Given the description of an element on the screen output the (x, y) to click on. 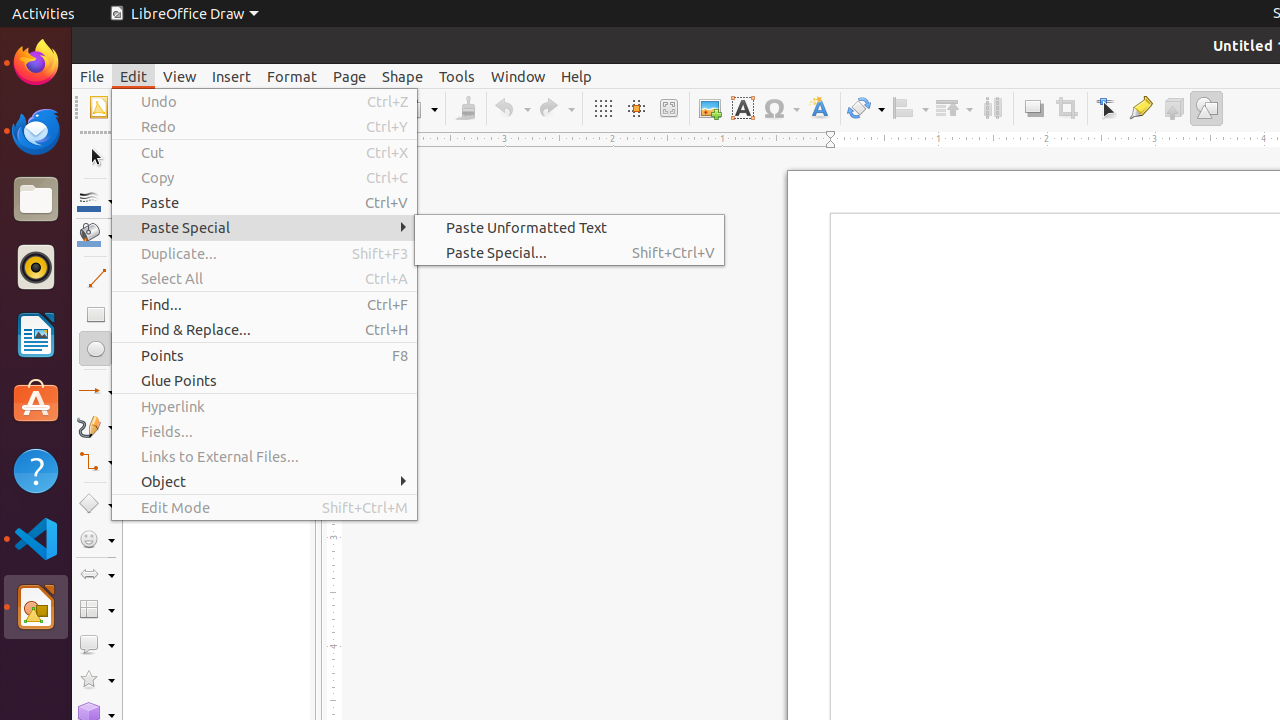
Symbol Element type: push-button (781, 108)
Paste Element type: menu-item (264, 202)
Undo Element type: menu-item (264, 101)
Helplines While Moving Element type: toggle-button (635, 108)
Insert Element type: menu (231, 76)
